Given the description of an element on the screen output the (x, y) to click on. 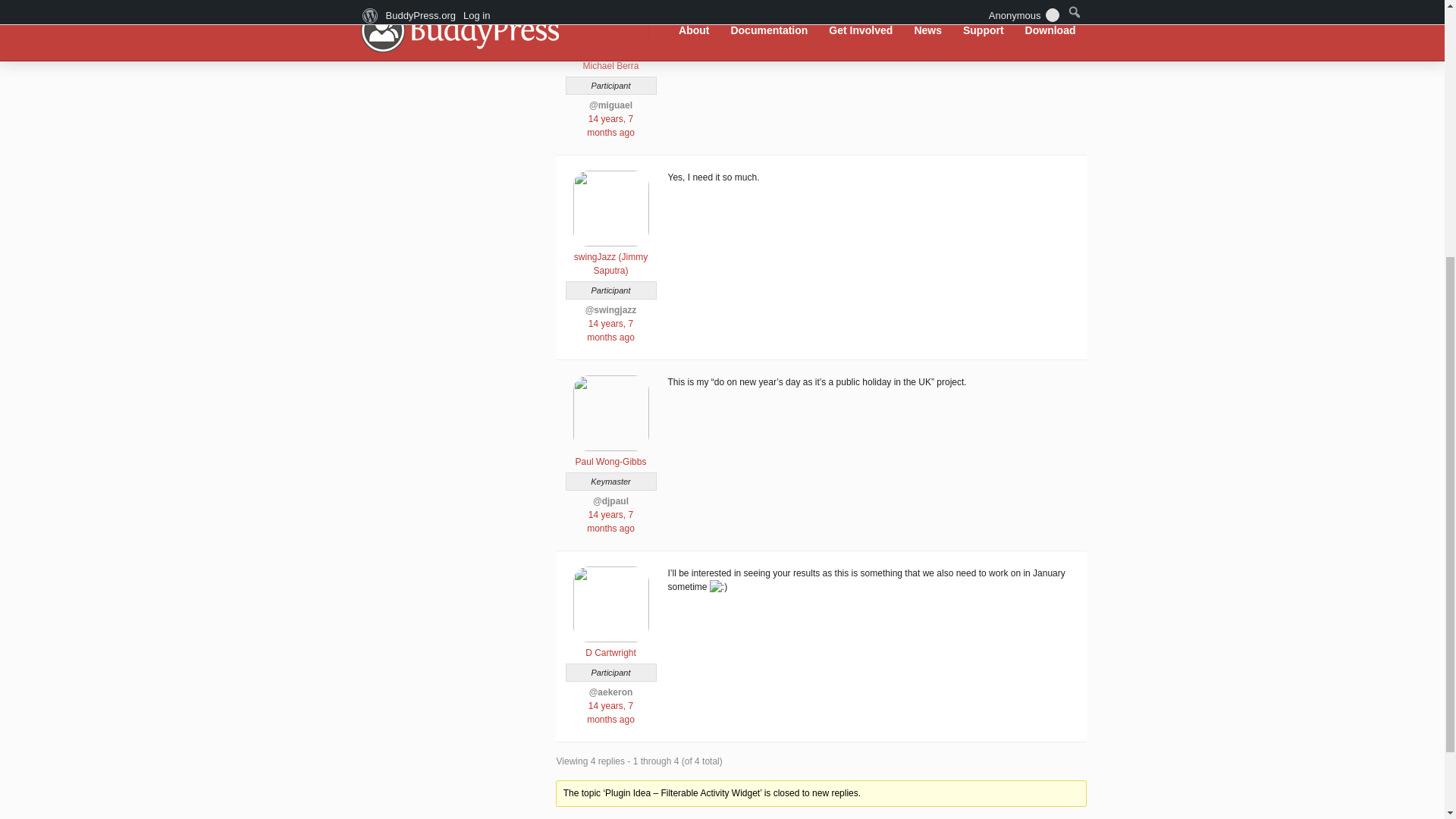
14 years, 7 months ago (610, 125)
14 years, 7 months ago (610, 330)
Paul Wong-Gibbs (609, 455)
14 years, 7 months ago (610, 521)
D Cartwright (609, 646)
Michael Berra (609, 59)
14 years, 7 months ago (610, 712)
